Given the description of an element on the screen output the (x, y) to click on. 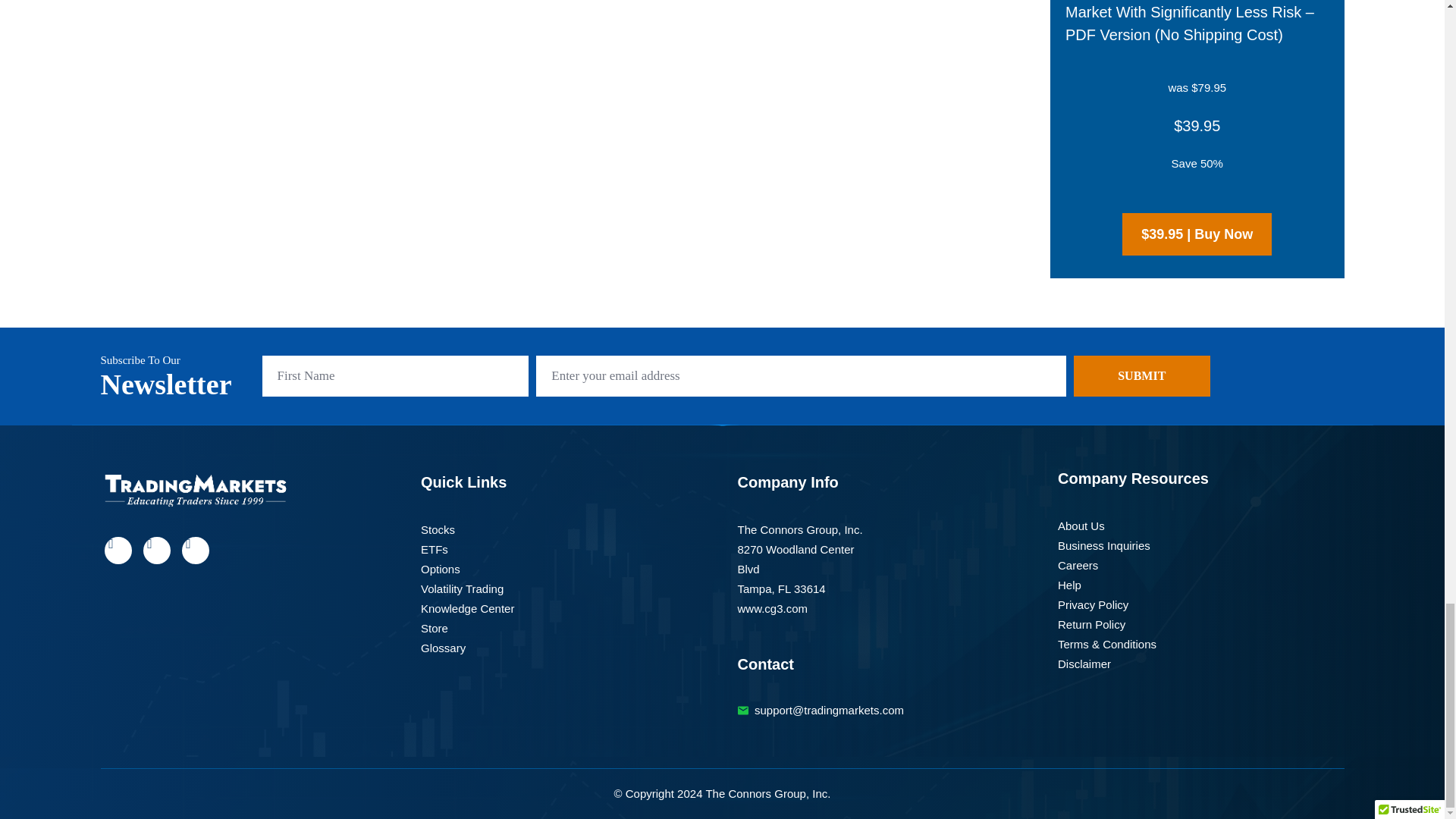
SUBMIT (1141, 375)
